Given the description of an element on the screen output the (x, y) to click on. 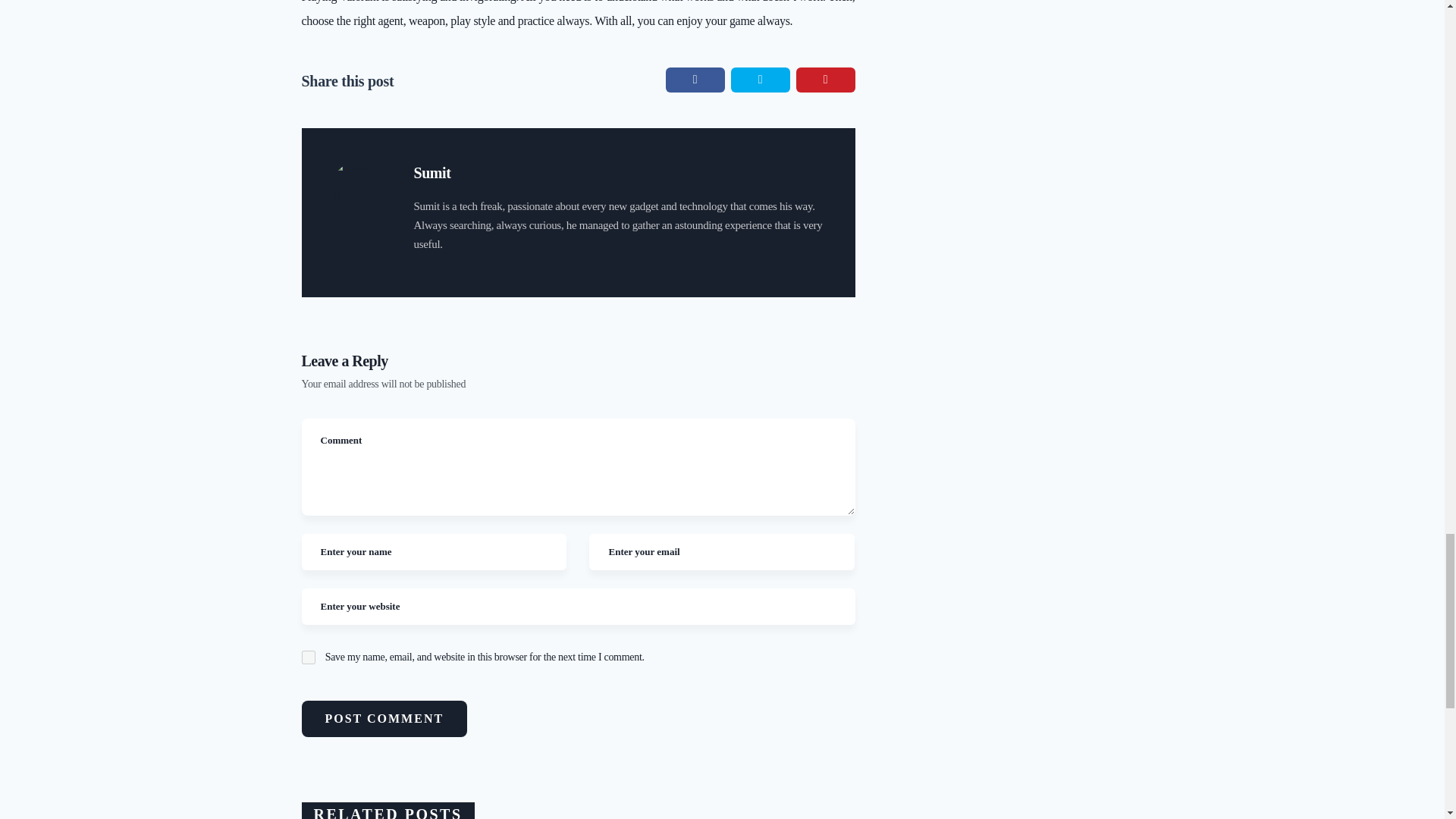
Post Comment (384, 719)
yes (308, 657)
Post Comment (384, 719)
Sumit (432, 172)
Gravatar for Sumit (360, 188)
